Given the description of an element on the screen output the (x, y) to click on. 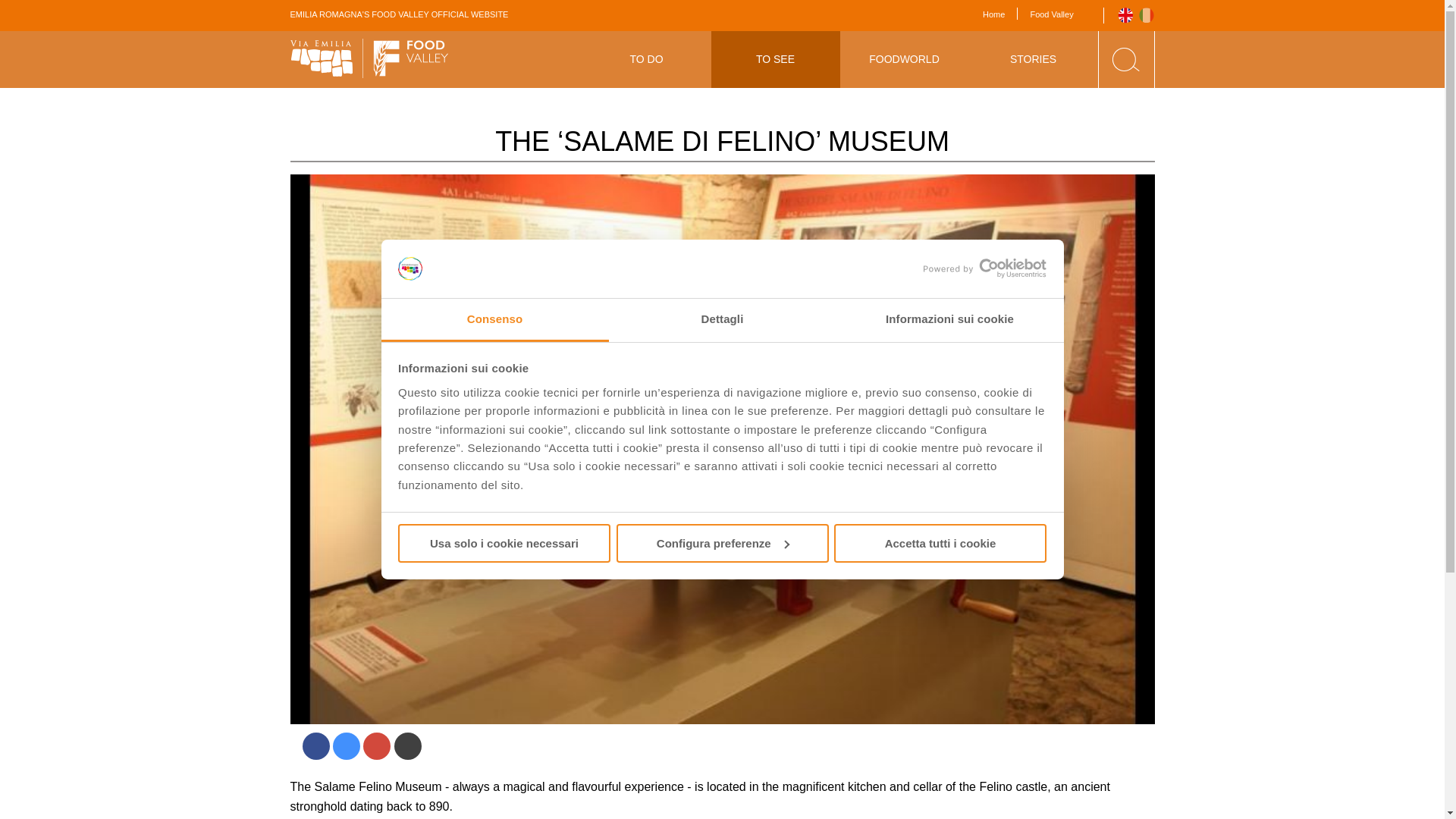
Informazioni sui cookie (948, 320)
Consenso (494, 320)
Museo del Salame di Felino (1146, 15)
Accetta tutti i cookie (940, 543)
Usa solo i cookie necessari (503, 543)
Back to Home (367, 59)
Dettagli (721, 320)
Configura preferenze (721, 543)
